Given the description of an element on the screen output the (x, y) to click on. 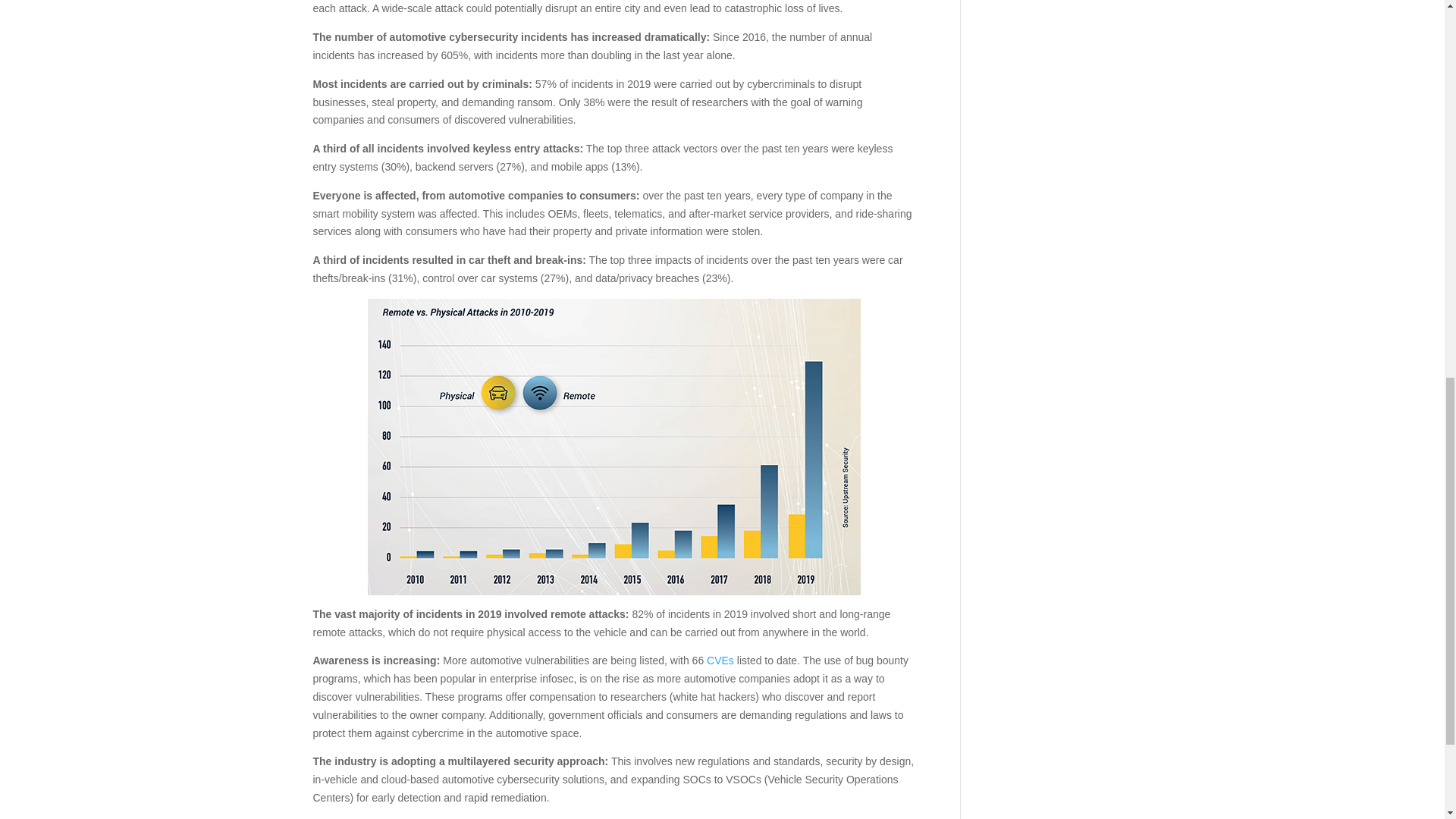
CVEs (719, 660)
